Given the description of an element on the screen output the (x, y) to click on. 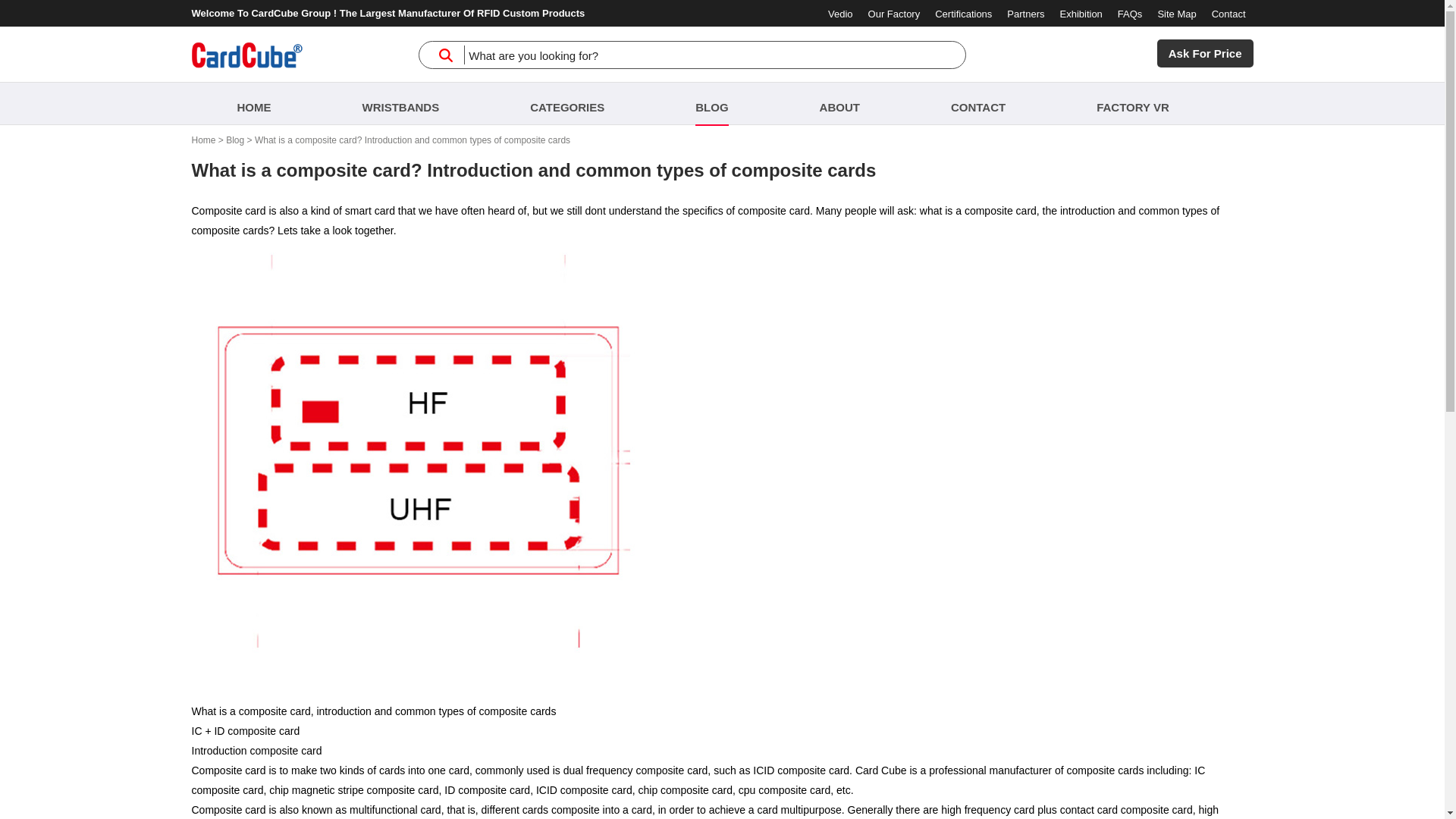
Site Map (1176, 13)
Contact (1228, 13)
Tags (400, 103)
HOME (252, 103)
Vedio (840, 13)
Exhibition (1080, 13)
FAQs (1130, 13)
Ask For Price (1205, 53)
Certifications (962, 13)
Our Factory (893, 13)
Partners (1025, 13)
WRISTBANDS (400, 103)
CardCube (252, 103)
